Given the description of an element on the screen output the (x, y) to click on. 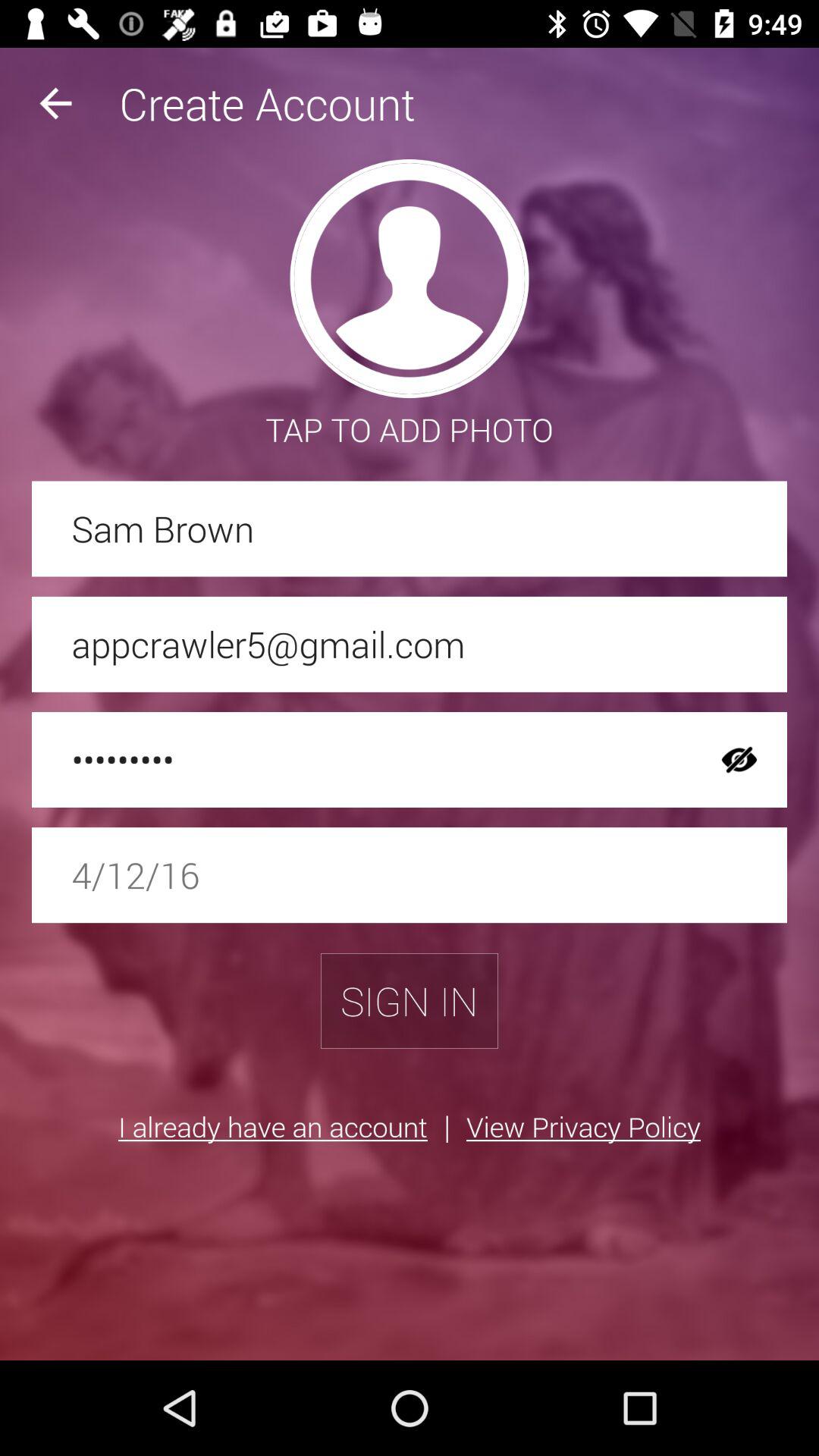
open item above i already have (409, 1000)
